Given the description of an element on the screen output the (x, y) to click on. 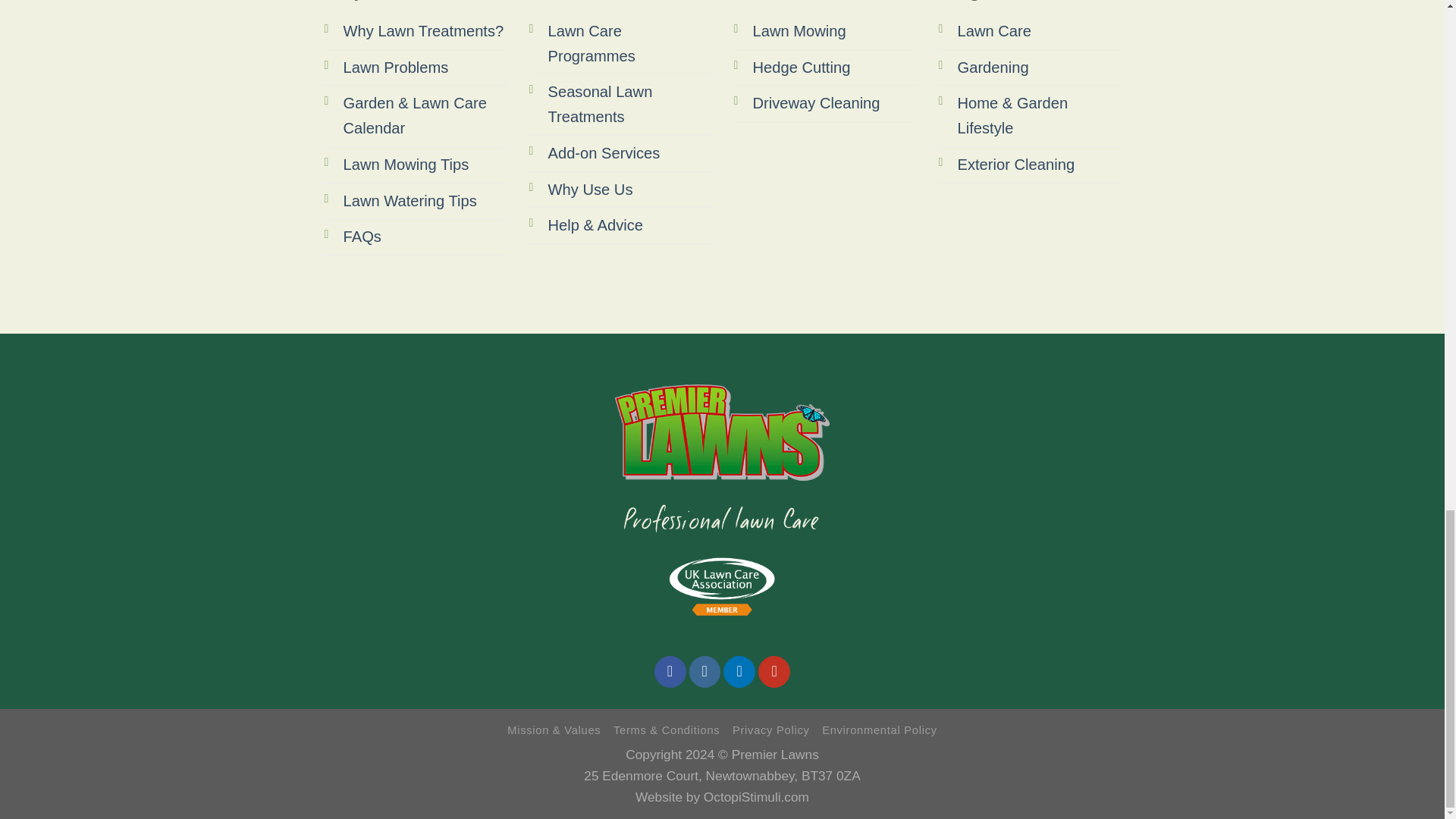
Follow on YouTube (774, 671)
Follow on Facebook (669, 671)
Follow on Instagram (704, 671)
Follow on LinkedIn (739, 671)
